Given the description of an element on the screen output the (x, y) to click on. 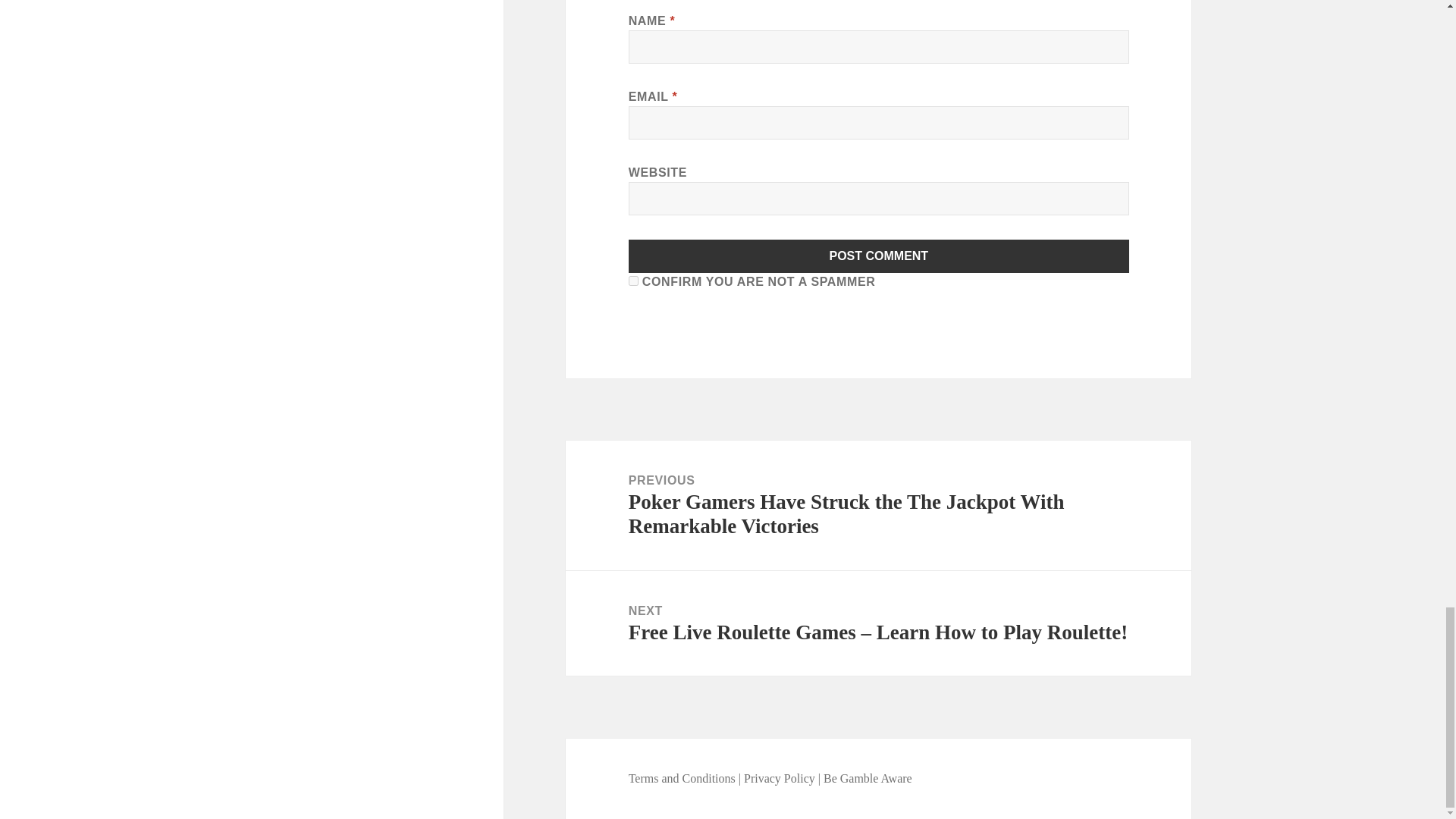
on (633, 280)
Post Comment (878, 255)
Be Gamble Aware (868, 778)
Privacy Policy (779, 778)
Post Comment (878, 255)
Terms and Conditions (683, 778)
